Given the description of an element on the screen output the (x, y) to click on. 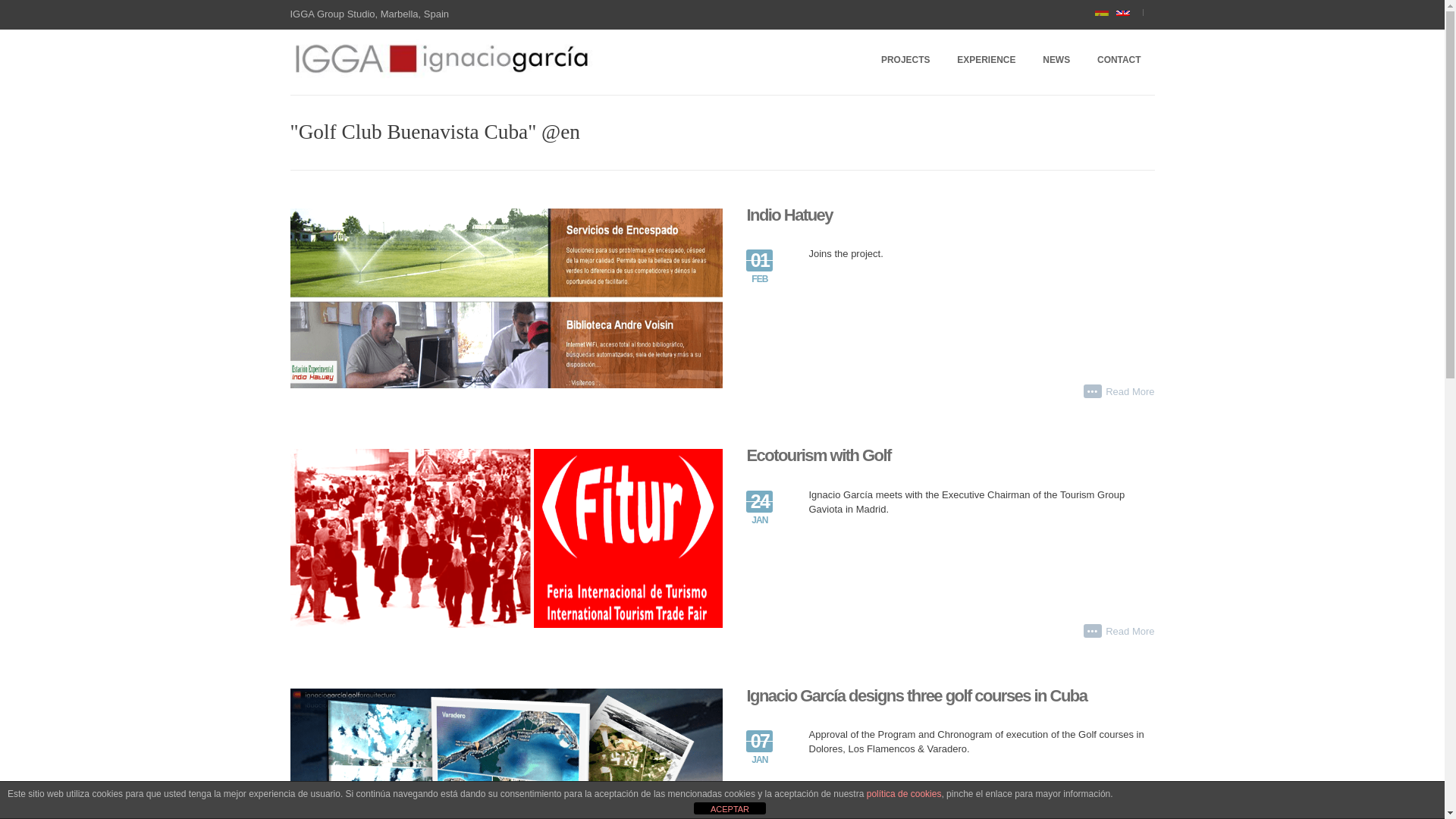
CONTACT (1118, 61)
Read More (1129, 391)
Indio Hatuey (788, 214)
EXPERIENCE (986, 61)
Read More (1129, 631)
Spanish (1105, 15)
NEWS (1056, 61)
Ecotourism with Golf (817, 455)
PROJECTS (905, 61)
